Given the description of an element on the screen output the (x, y) to click on. 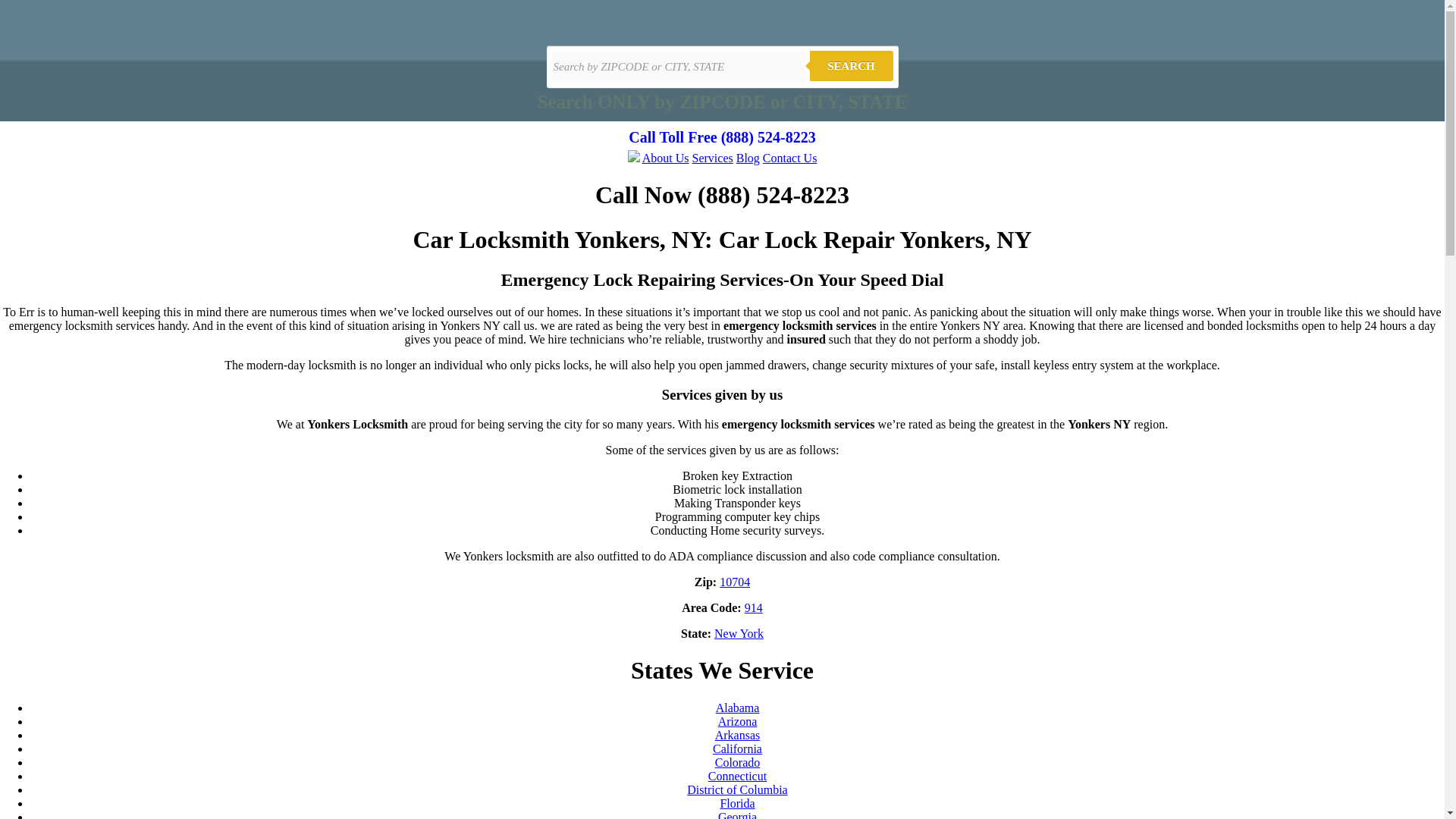
District of Columbia (737, 789)
Arkansas (737, 735)
Blog (748, 157)
Arizona (737, 721)
Services (713, 157)
Alabama (738, 707)
California (737, 748)
Connecticut (737, 775)
Colorado (737, 762)
Florida (736, 802)
914 (753, 607)
10704 (734, 581)
New York (738, 633)
SEARCH (851, 65)
Georgia (737, 814)
